Given the description of an element on the screen output the (x, y) to click on. 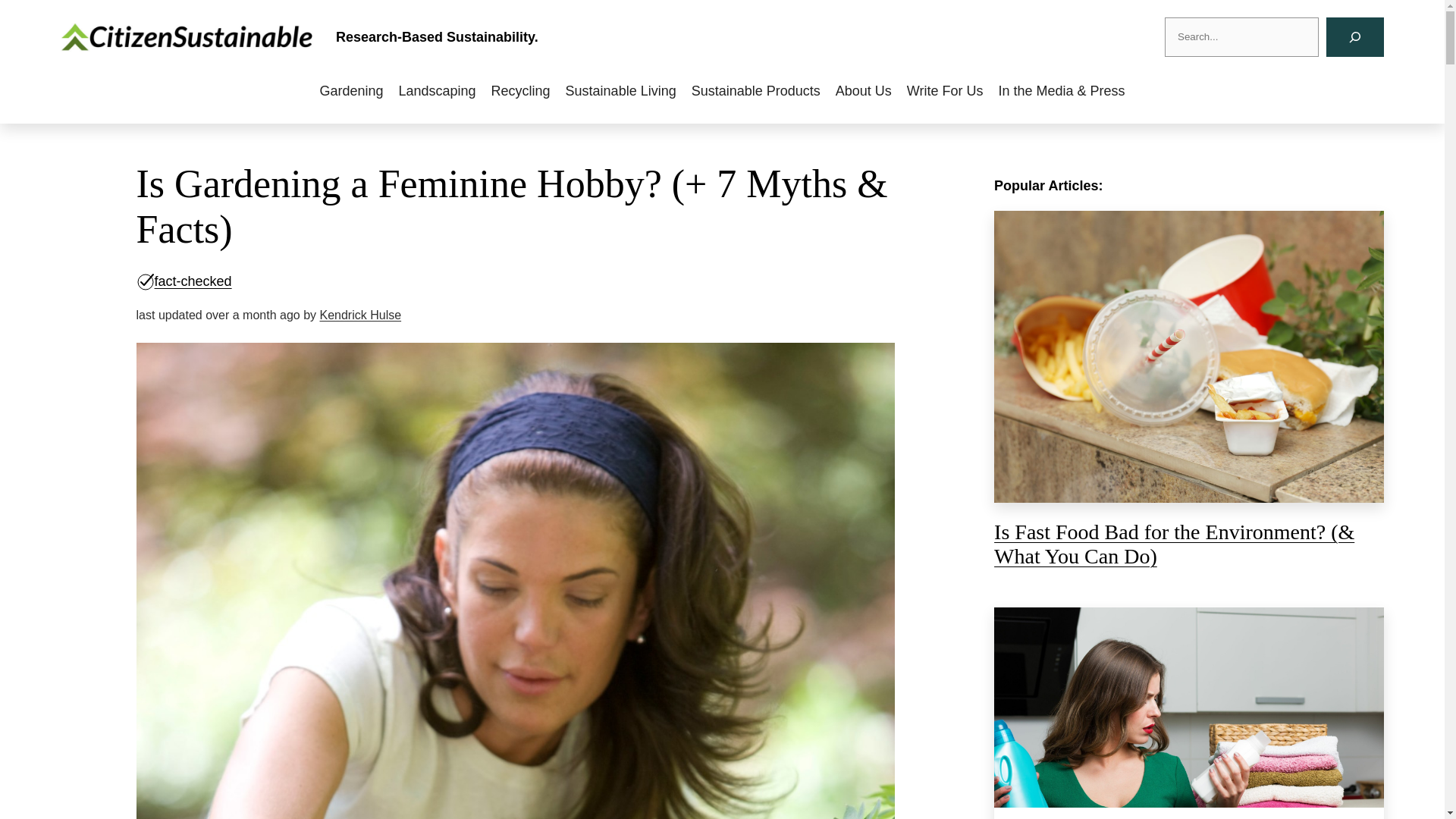
Kendrick Hulse (359, 314)
Sustainable Living (620, 91)
Landscaping (436, 91)
About Us (863, 91)
Recycling (520, 91)
fact-checked (192, 281)
Write For Us (945, 91)
Sustainable Products (756, 91)
Gardening (350, 91)
